Given the description of an element on the screen output the (x, y) to click on. 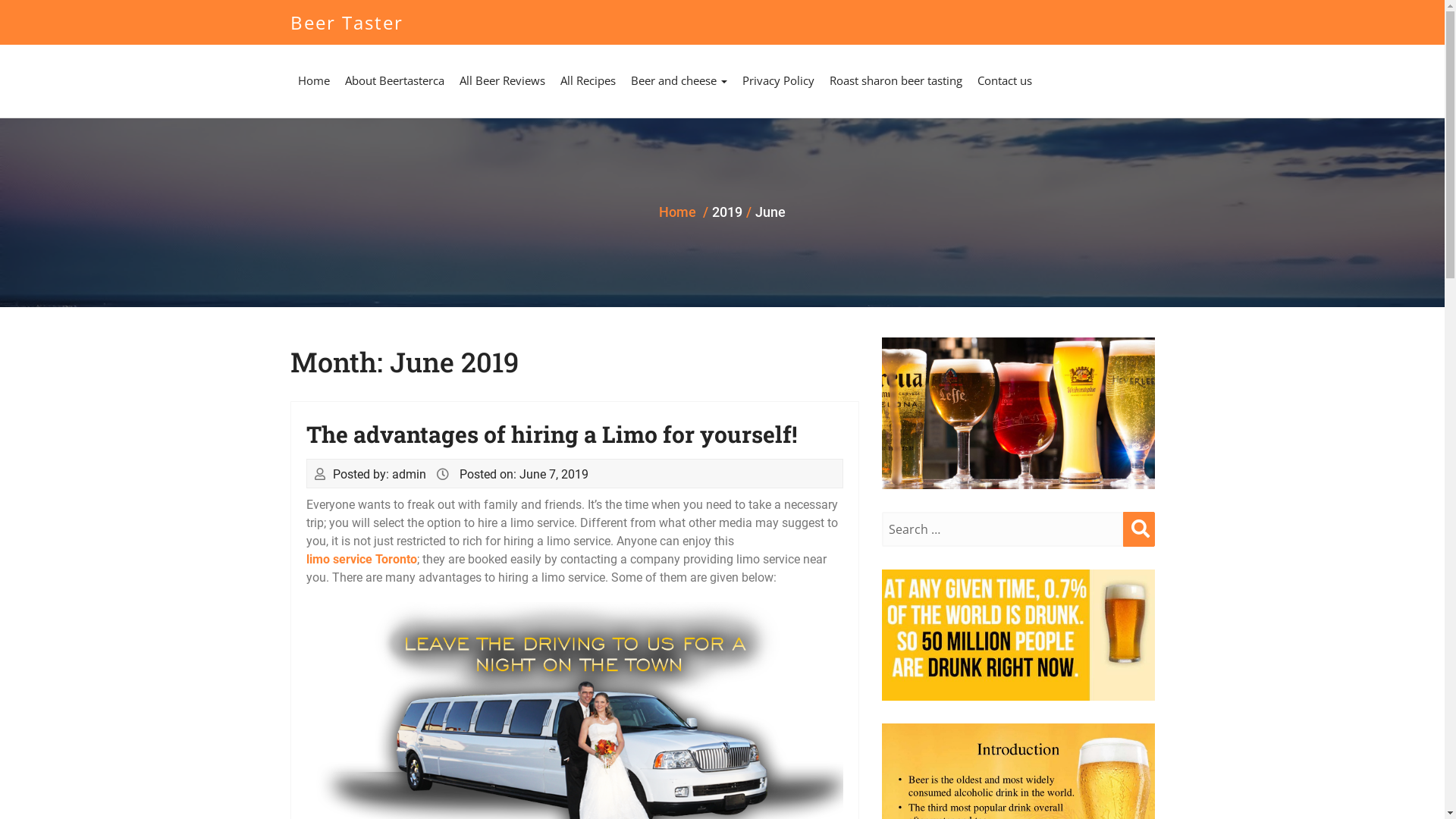
limo service Toronto Element type: text (361, 559)
All Beer Reviews Element type: text (502, 80)
Privacy Policy Element type: text (777, 80)
Contact us Element type: text (1003, 80)
Home Element type: text (677, 212)
The advantages of hiring a Limo for yourself! Element type: text (551, 433)
Roast sharon beer tasting Element type: text (895, 80)
Beer and cheese Element type: text (678, 80)
All Recipes Element type: text (587, 80)
About Beertasterca Element type: text (393, 80)
Posted on: June 7, 2019 Element type: text (523, 474)
Beer Taster Element type: text (345, 22)
Search Element type: text (1138, 528)
Home Element type: text (313, 80)
Posted by: admin Element type: text (378, 474)
